Given the description of an element on the screen output the (x, y) to click on. 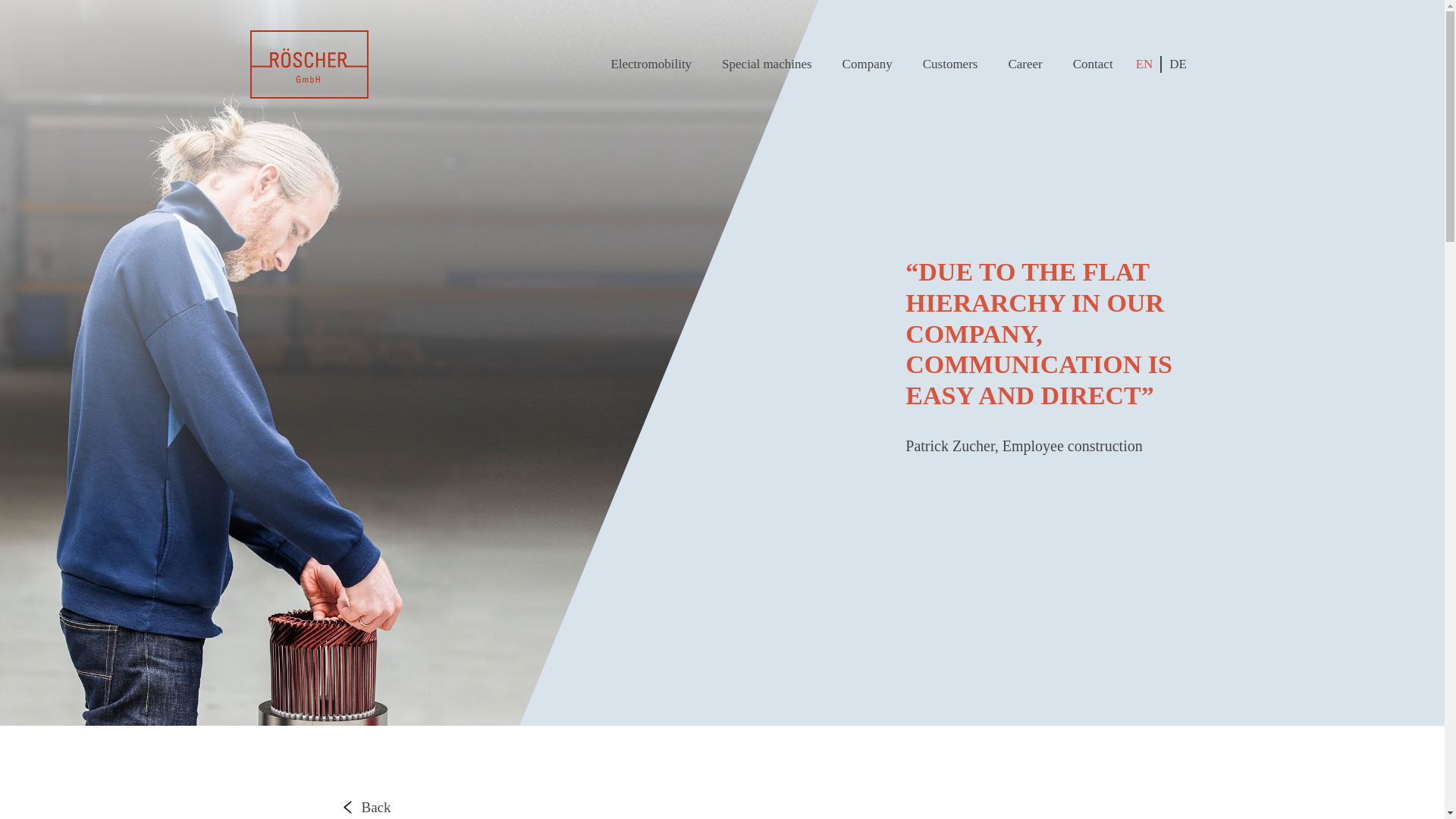
Customers (950, 64)
EN (1144, 64)
Electromobility (650, 64)
Back (366, 809)
Special machines (767, 64)
Contact (1093, 64)
DE (1173, 64)
EN (1144, 64)
Company (867, 64)
DE (1173, 64)
Career (1024, 64)
